Given the description of an element on the screen output the (x, y) to click on. 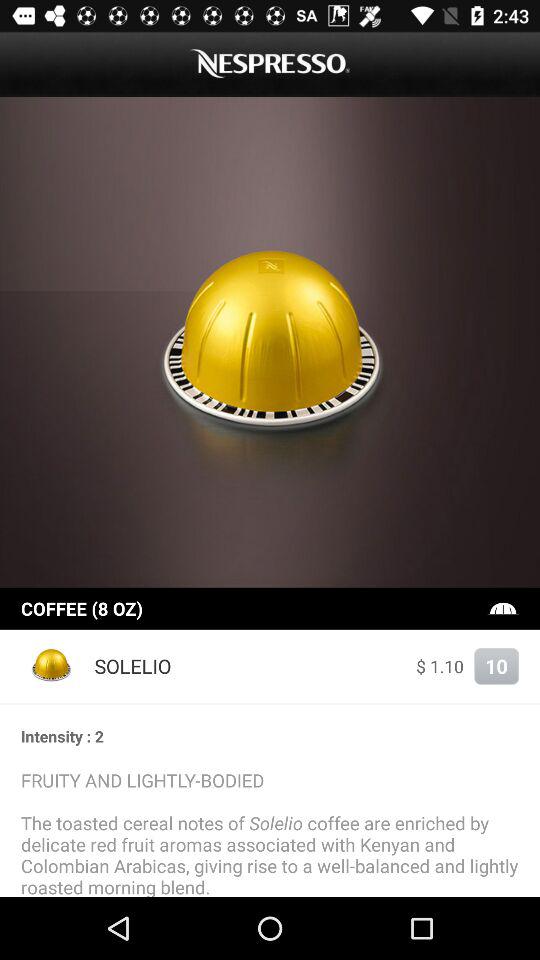
launch the intensity : 2 icon (270, 735)
